Given the description of an element on the screen output the (x, y) to click on. 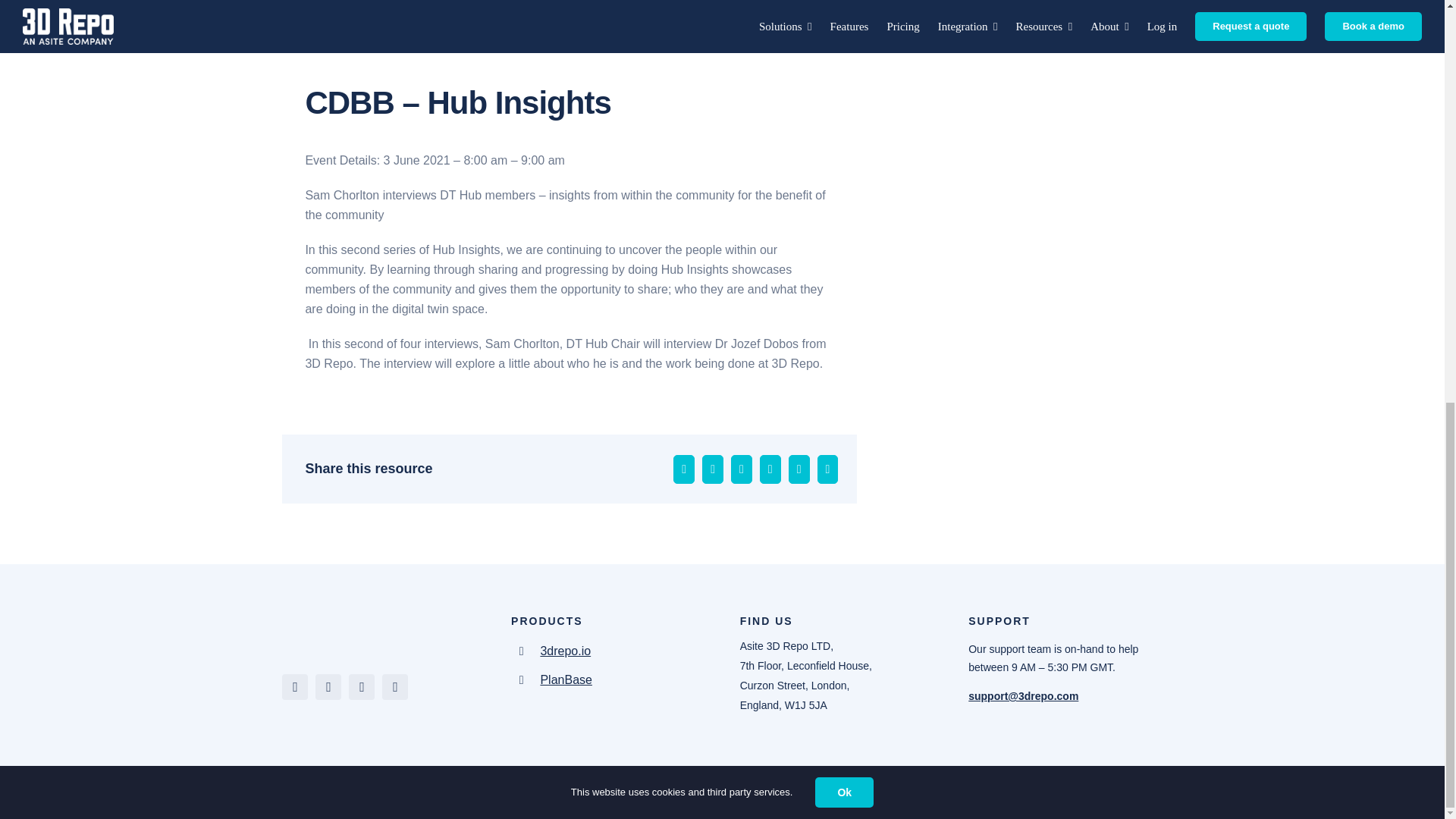
lanproNavy (327, 625)
